Given the description of an element on the screen output the (x, y) to click on. 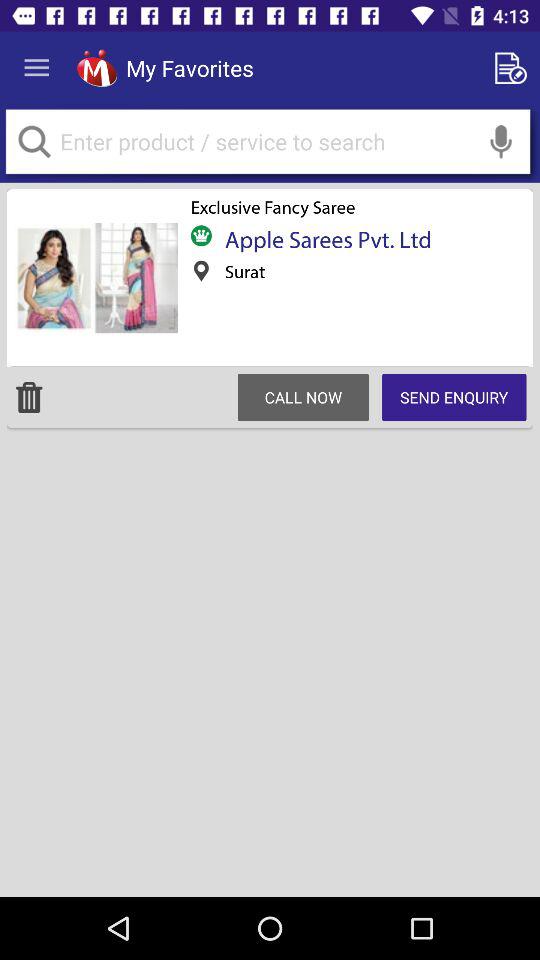
select the image under search bar (96, 277)
click on location icon (201, 271)
click on the search button (34, 141)
click on the voice search icon (501, 141)
select the logo above the location icon (201, 234)
select the exclusive fancy saree below my favorites (273, 206)
